Given the description of an element on the screen output the (x, y) to click on. 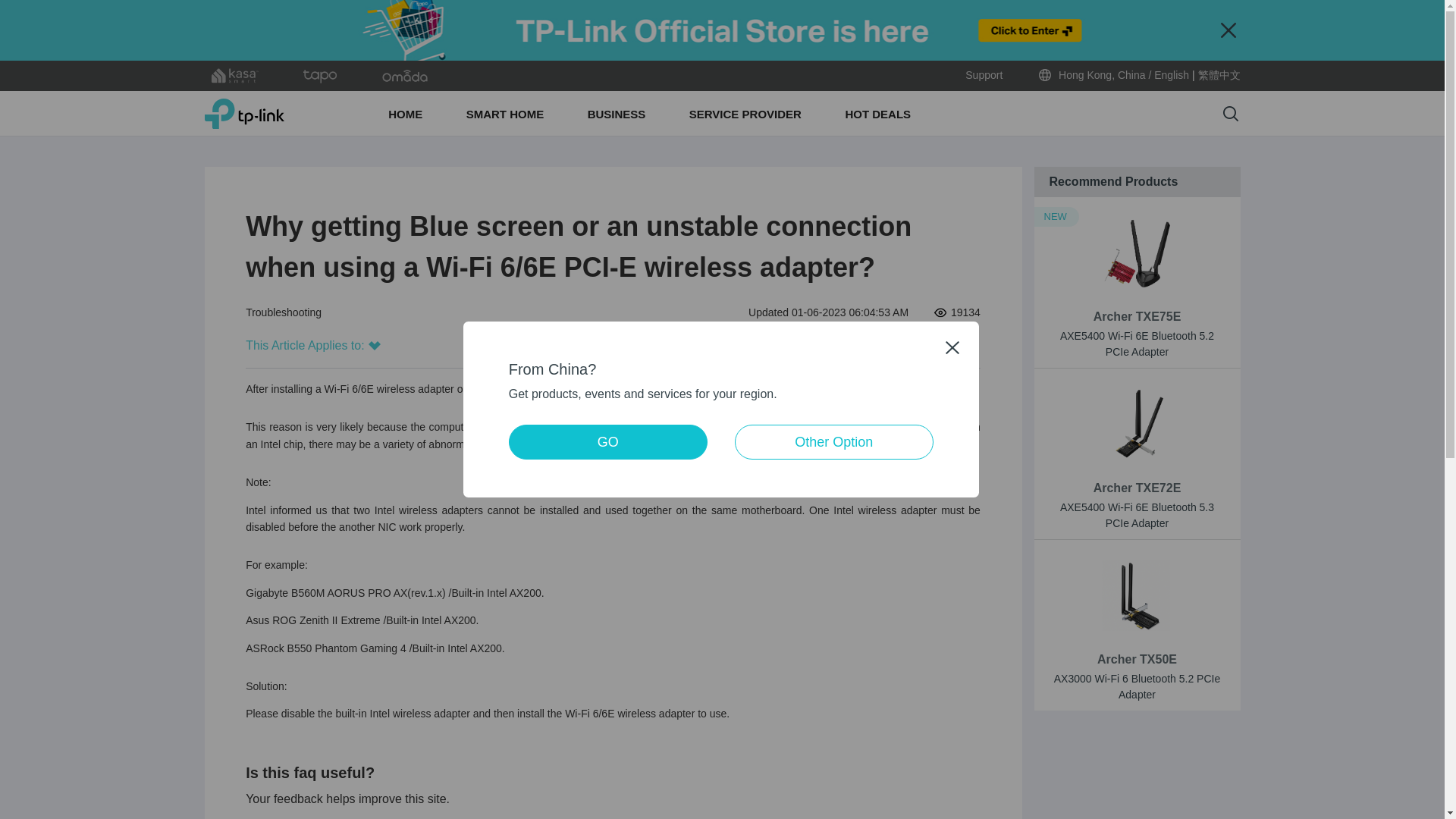
TP-Link, Reliably Smart (244, 113)
omada (404, 75)
tapo (319, 75)
Support (984, 75)
kasa (234, 75)
Search (1230, 113)
